Given the description of an element on the screen output the (x, y) to click on. 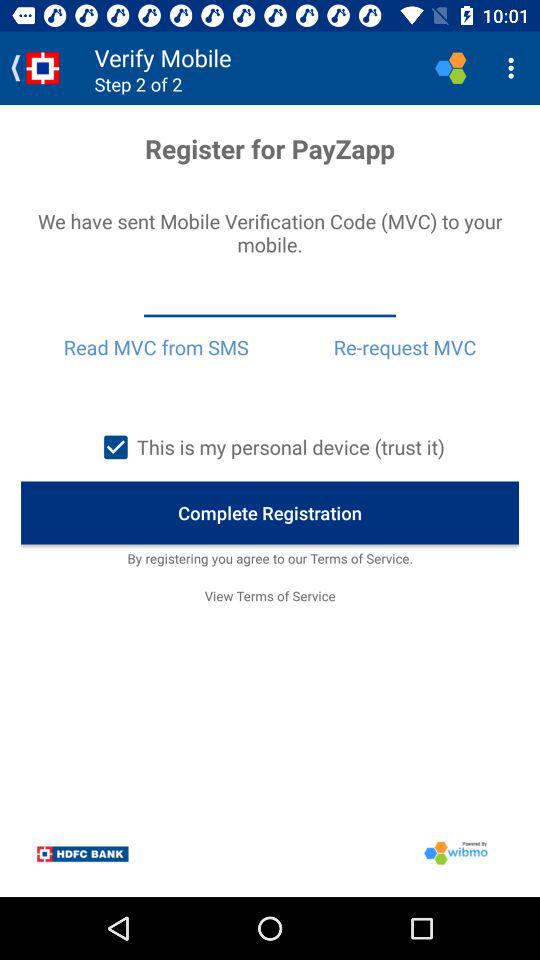
mvc text field (269, 299)
